Given the description of an element on the screen output the (x, y) to click on. 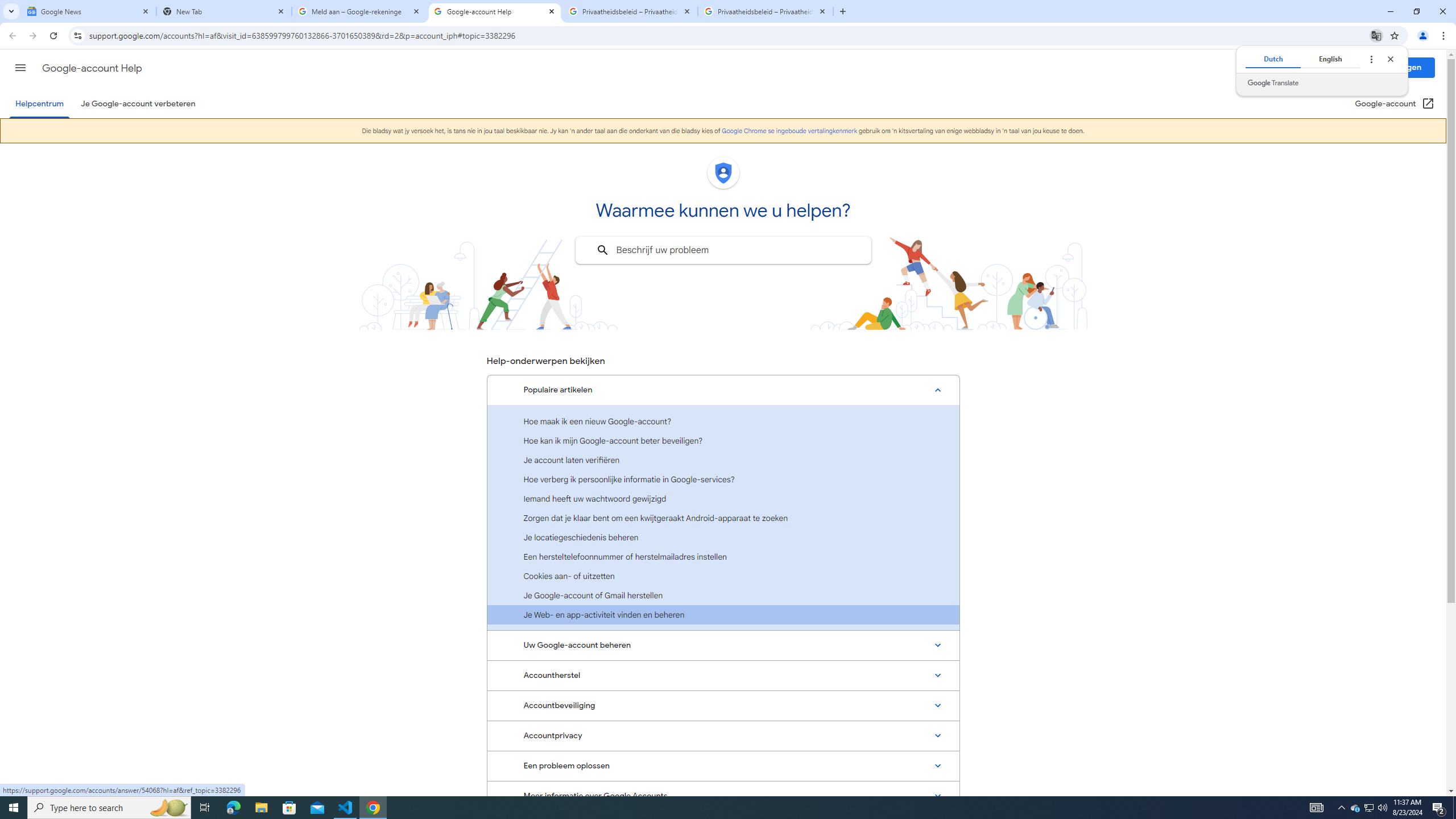
Meer informatie over Google Accounts (722, 795)
English (1329, 58)
Translate options (1370, 58)
Hoe verberg ik persoonlijke informatie in Google-services? (722, 479)
Hoe maak ik een nieuw Google-account? (722, 420)
Zoeken (601, 249)
Google Chrome se ingeboude vertalingkenmerk (789, 130)
Een hersteltelefoonnummer of herstelmailadres instellen (722, 556)
Dutch (1272, 58)
Google-account Help (91, 68)
